Given the description of an element on the screen output the (x, y) to click on. 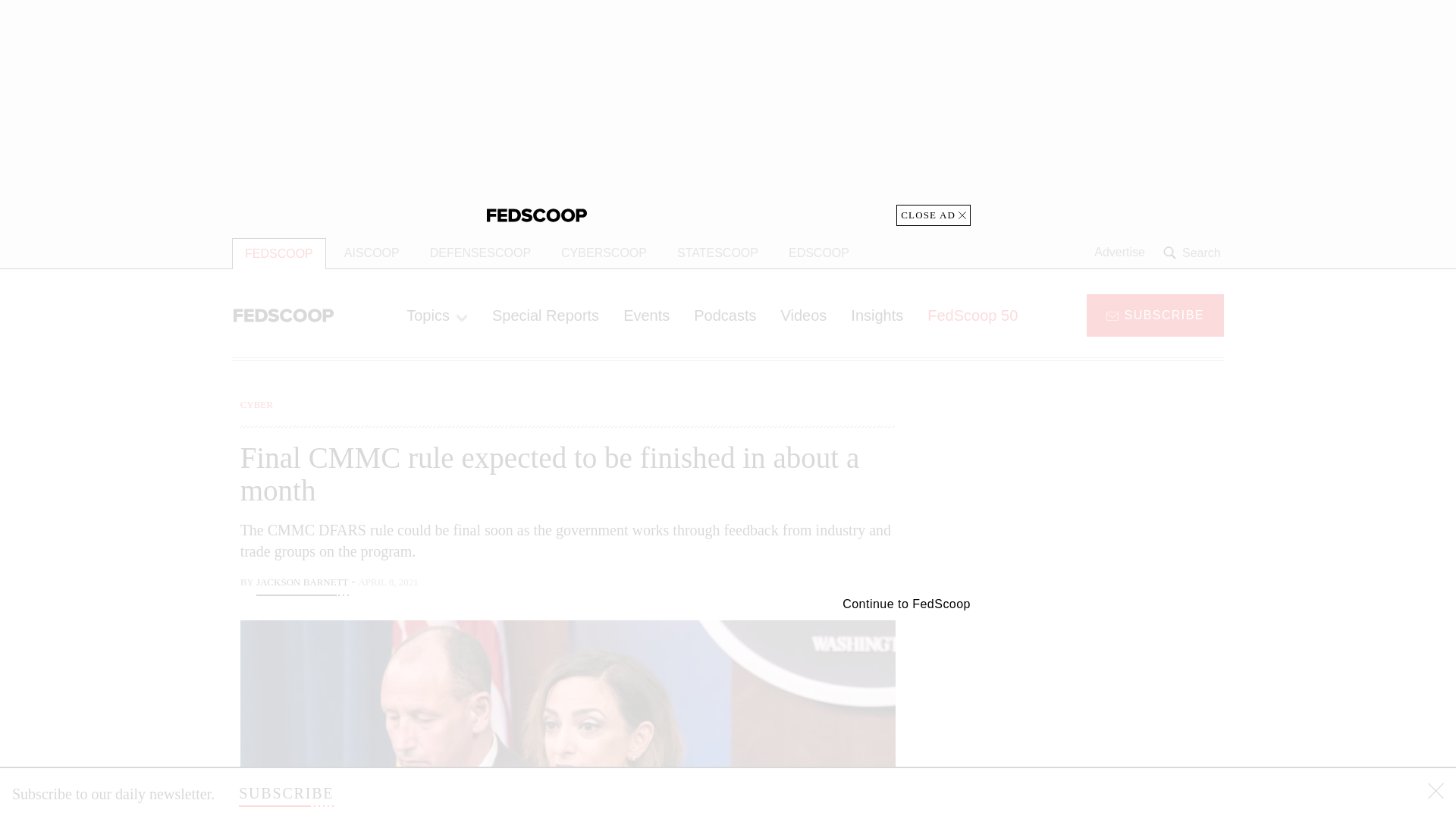
SUBSCRIBE (285, 793)
FedScoop 50 (972, 315)
Videos (804, 315)
Podcasts (724, 315)
3rd party ad content (727, 113)
Topics (437, 315)
EDSCOOP (818, 253)
CLOSE (1436, 793)
CYBERSCOOP (603, 253)
FEDSCOOP (278, 253)
Search (1193, 252)
3rd party ad content (1101, 492)
Jackson Barnett (302, 583)
Advertise (1119, 252)
